Given the description of an element on the screen output the (x, y) to click on. 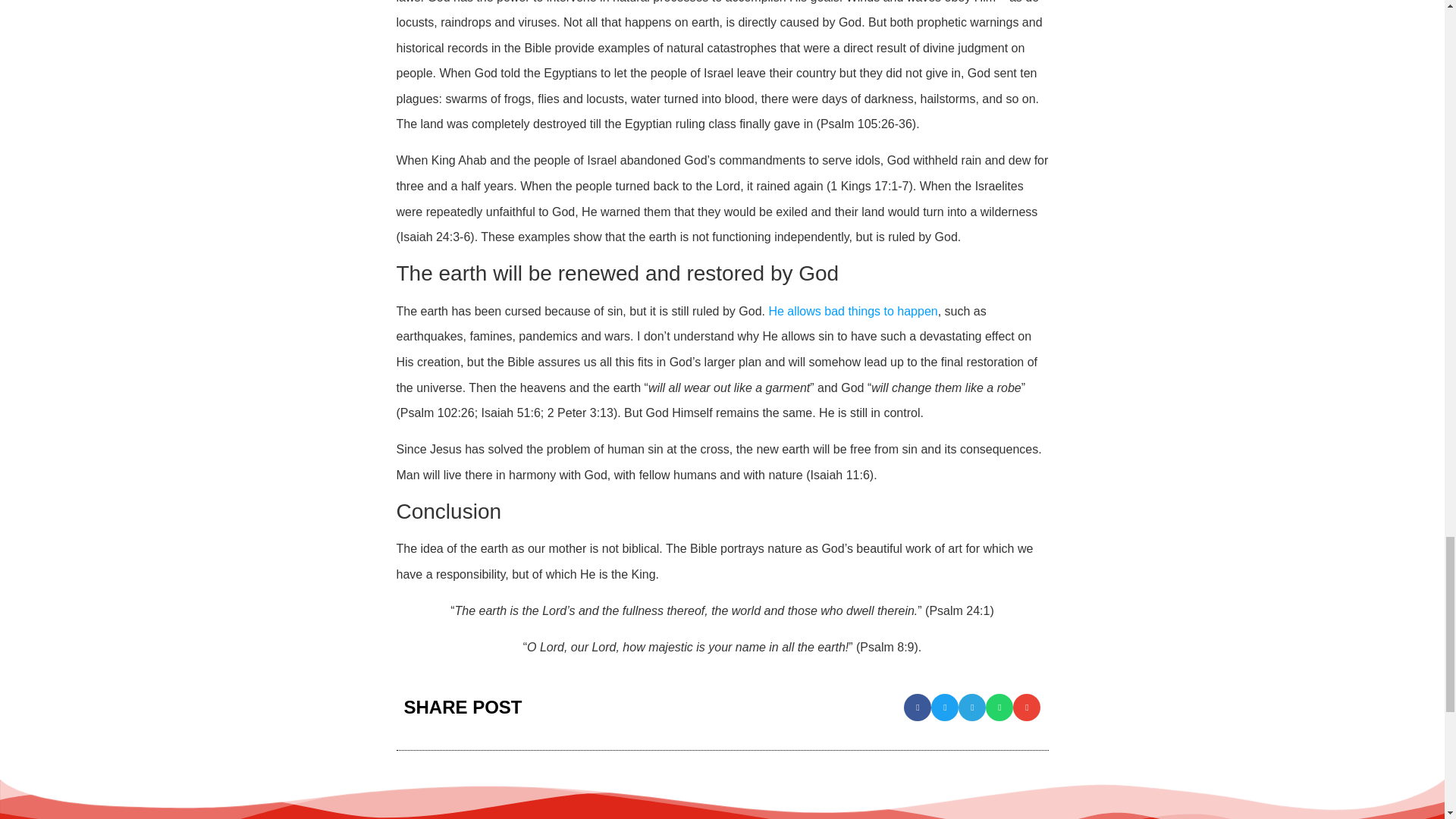
He allows bad things to happen (852, 310)
